Given the description of an element on the screen output the (x, y) to click on. 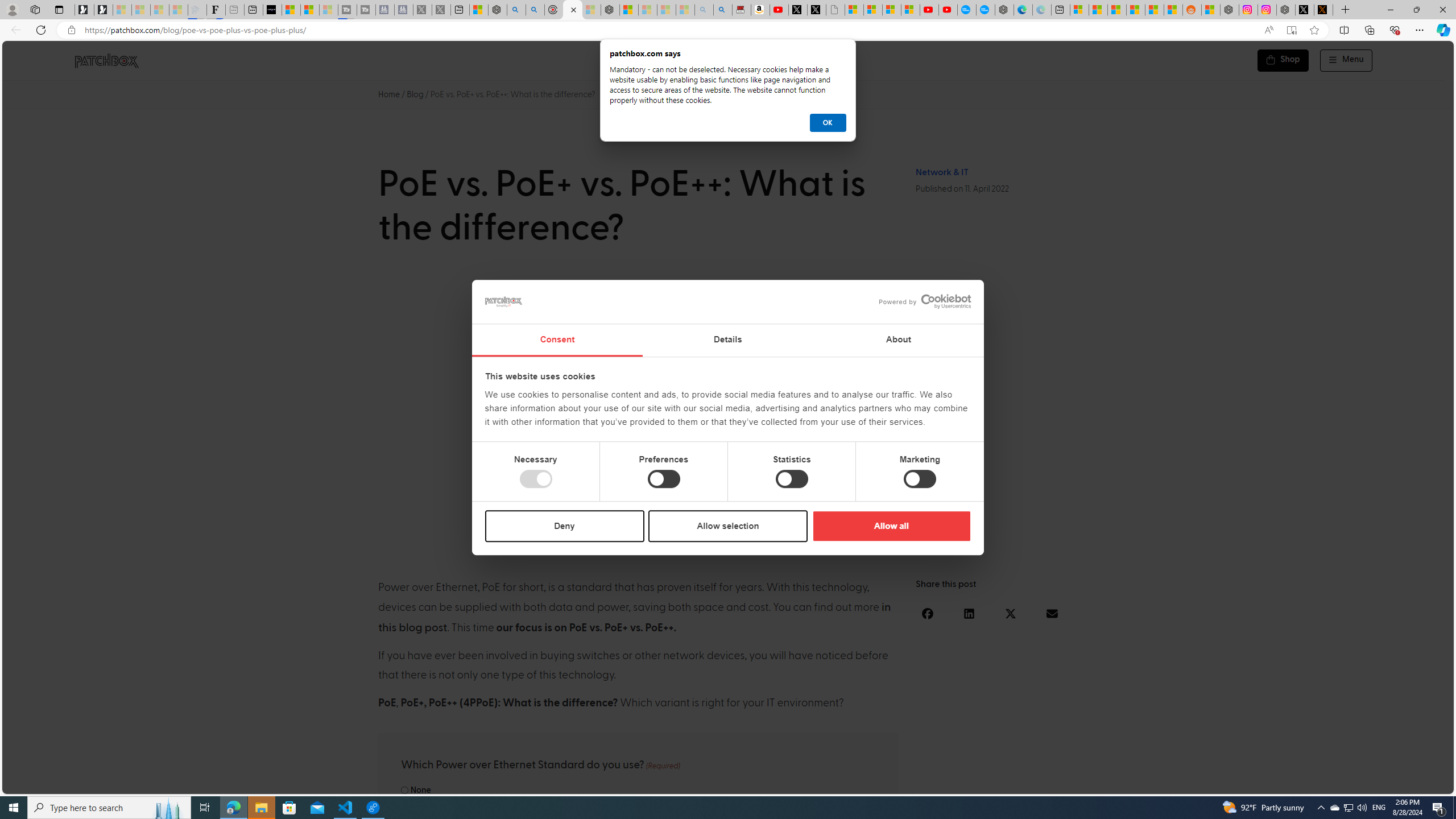
OK (827, 122)
